Given the description of an element on the screen output the (x, y) to click on. 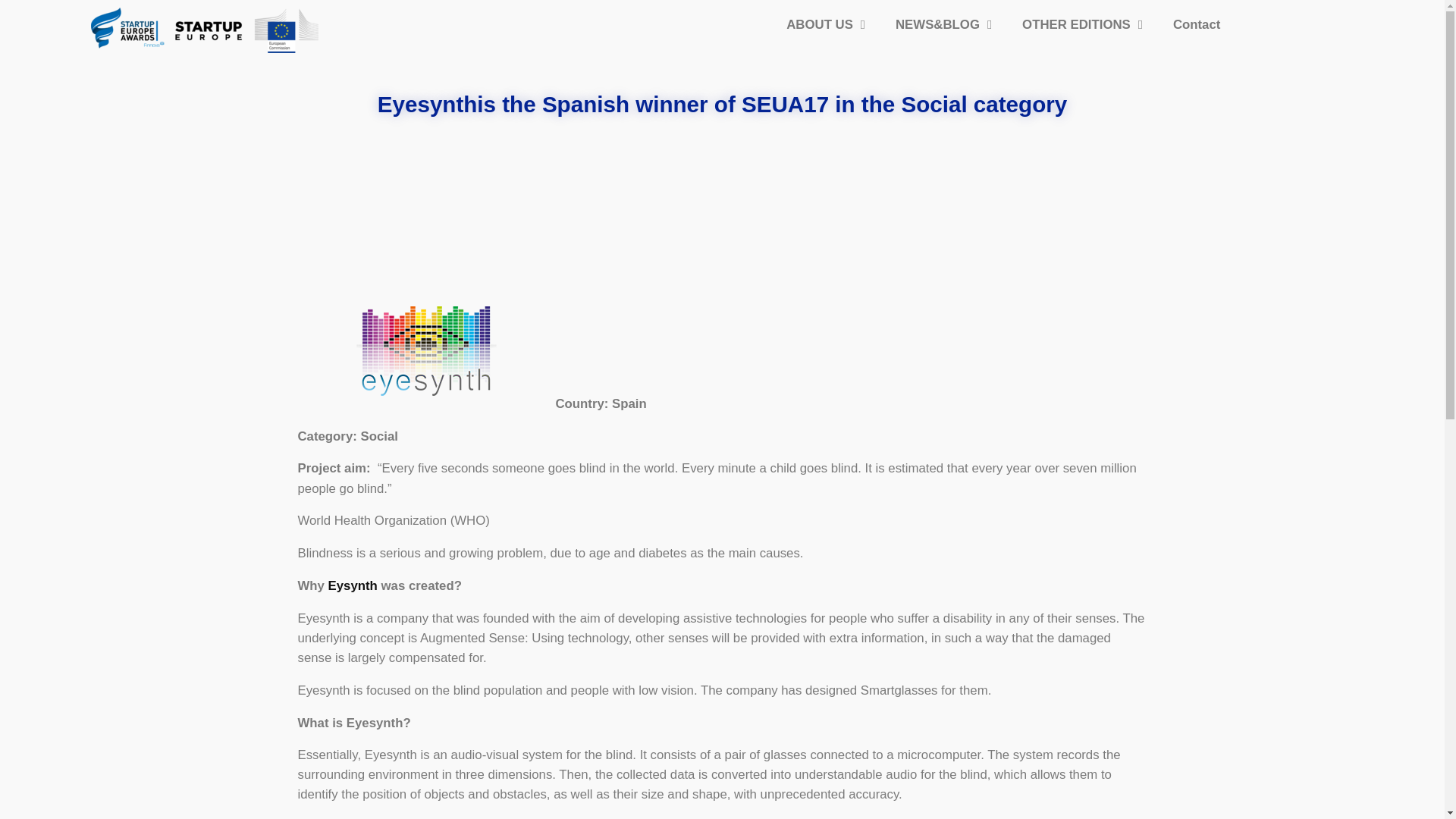
OTHER EDITIONS (1082, 24)
ABOUT US (825, 24)
Contact (1195, 24)
